Given the description of an element on the screen output the (x, y) to click on. 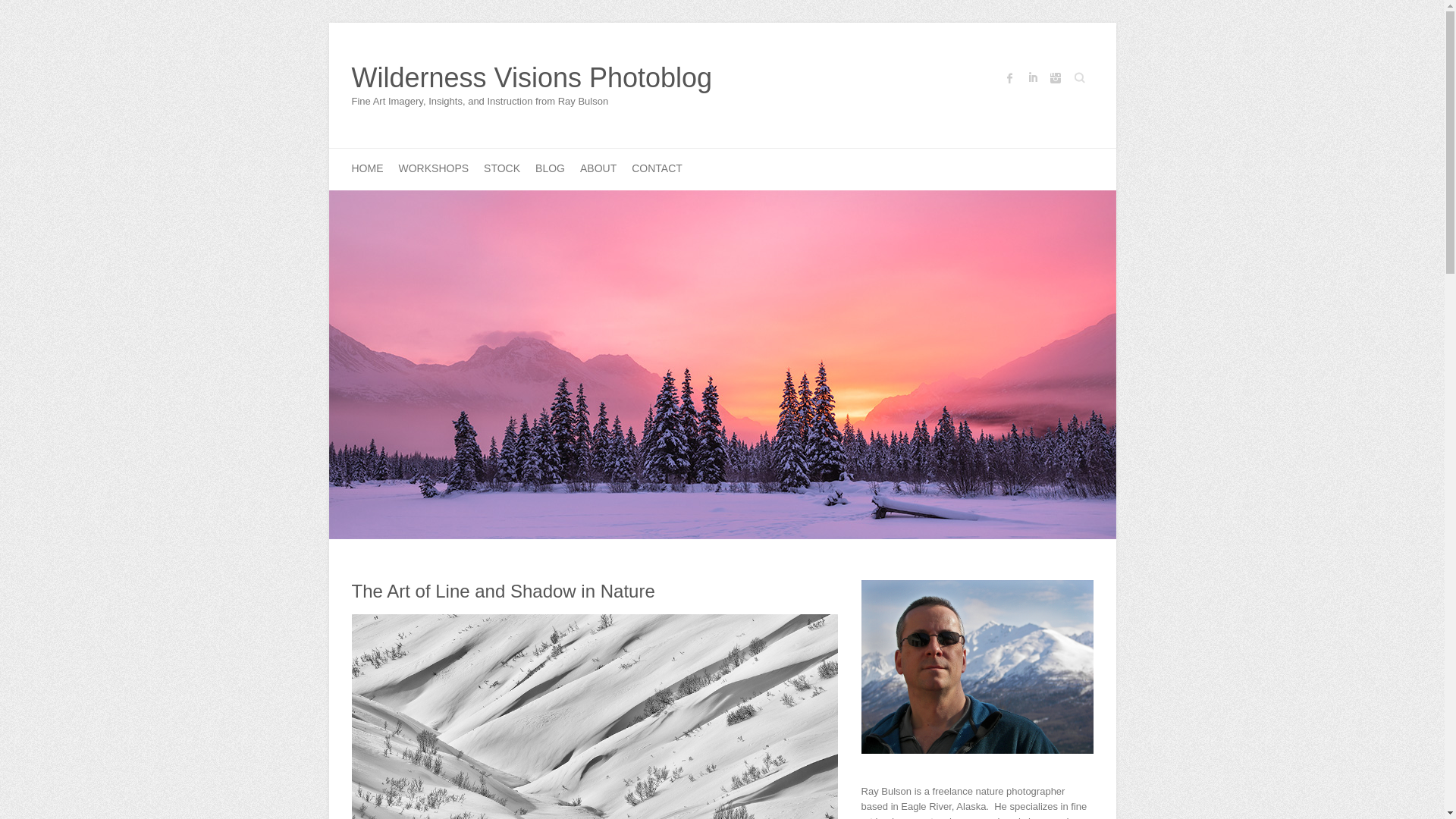
Wilderness Visions Photoblog LinkedIn (1031, 77)
WORKSHOPS (433, 169)
Wilderness Visions Photoblog on LinkedIn (1031, 77)
CONTACT (656, 169)
Wilderness Visions Photoblog Instagram (1054, 77)
The Art of Line and Shadow in Nature (503, 590)
Wilderness Visions Photoblog (532, 78)
The Art of Line and Shadow in Nature (503, 590)
Wilderness Visions Photoblog on Facebook (1008, 77)
Wilderness Visions Photoblog (532, 78)
Wilderness Visions Photoblog on Instagram (1054, 77)
Wilderness Visions Photoblog Facebook (1008, 77)
